Given the description of an element on the screen output the (x, y) to click on. 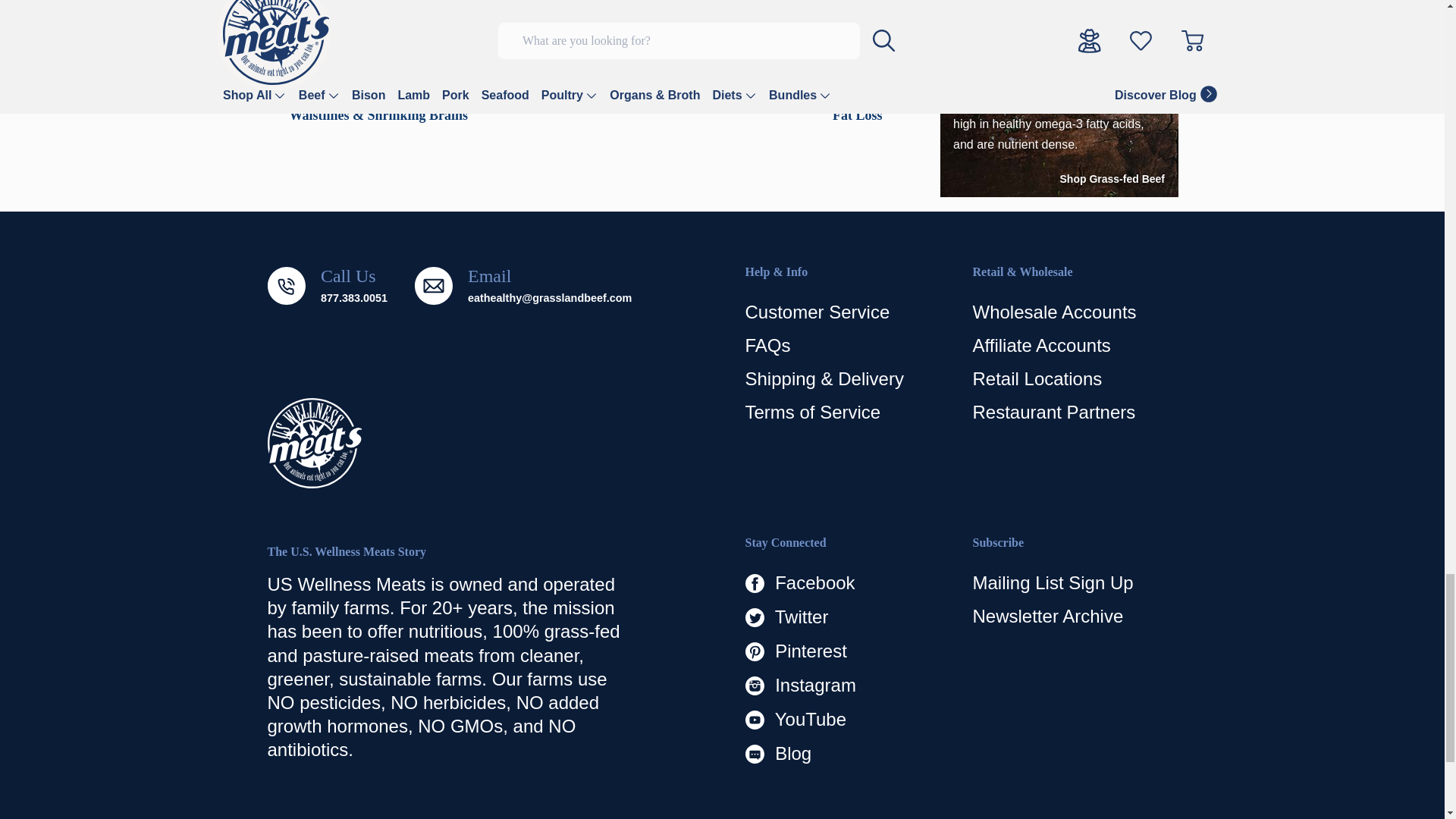
Instagram Logo (753, 685)
YouTube Icon (753, 719)
Call Icon (285, 285)
USWM Logo (313, 443)
Twitter Icon (753, 617)
Facebook Icon (753, 583)
Email Icon (433, 285)
Pinterest Icon (753, 651)
